Given the description of an element on the screen output the (x, y) to click on. 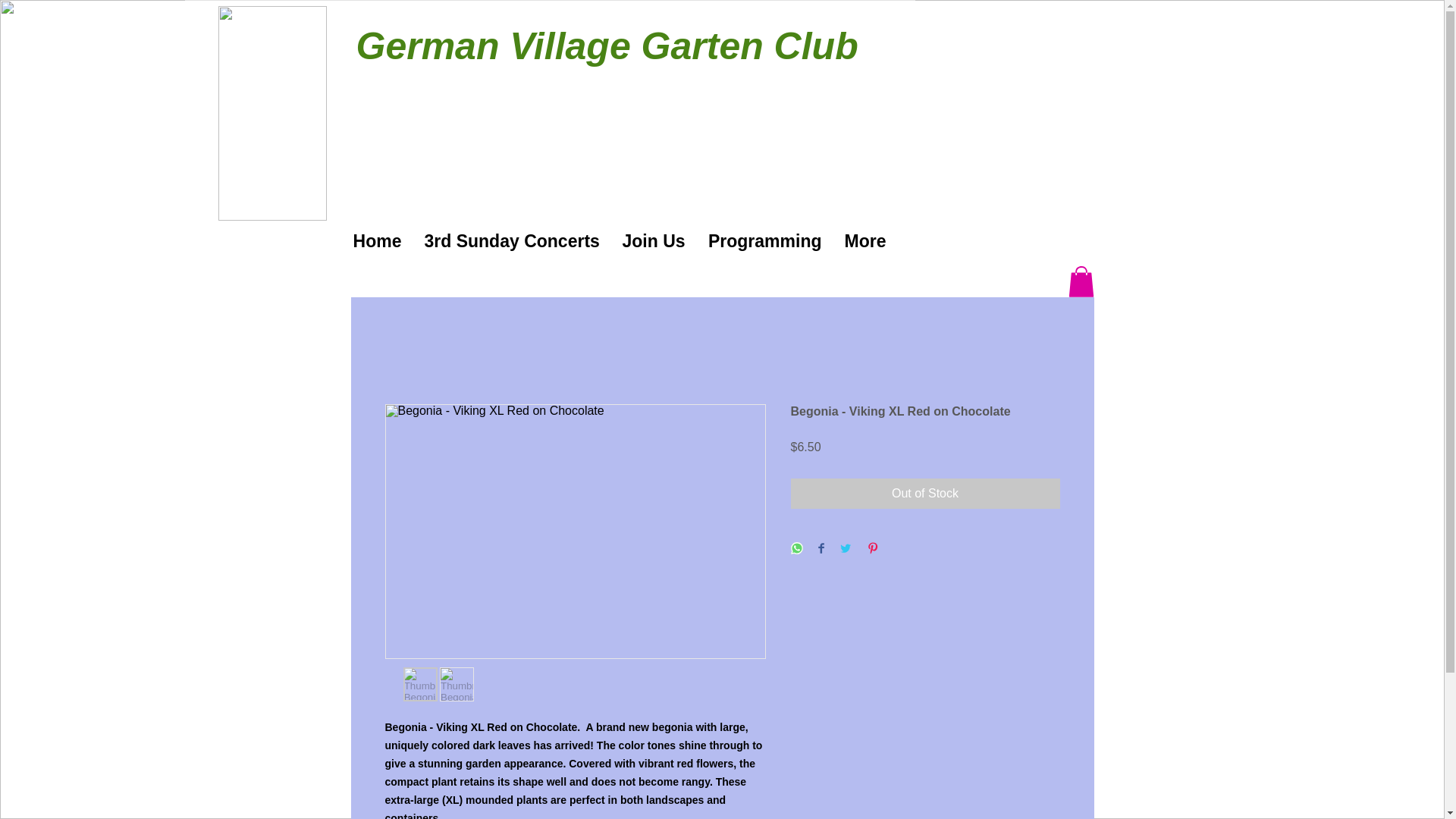
German Village Garten Club (607, 46)
Out of Stock (924, 493)
Programming (763, 241)
3rd Sunday Concerts (511, 241)
Home (376, 241)
Join Us (654, 241)
